Given the description of an element on the screen output the (x, y) to click on. 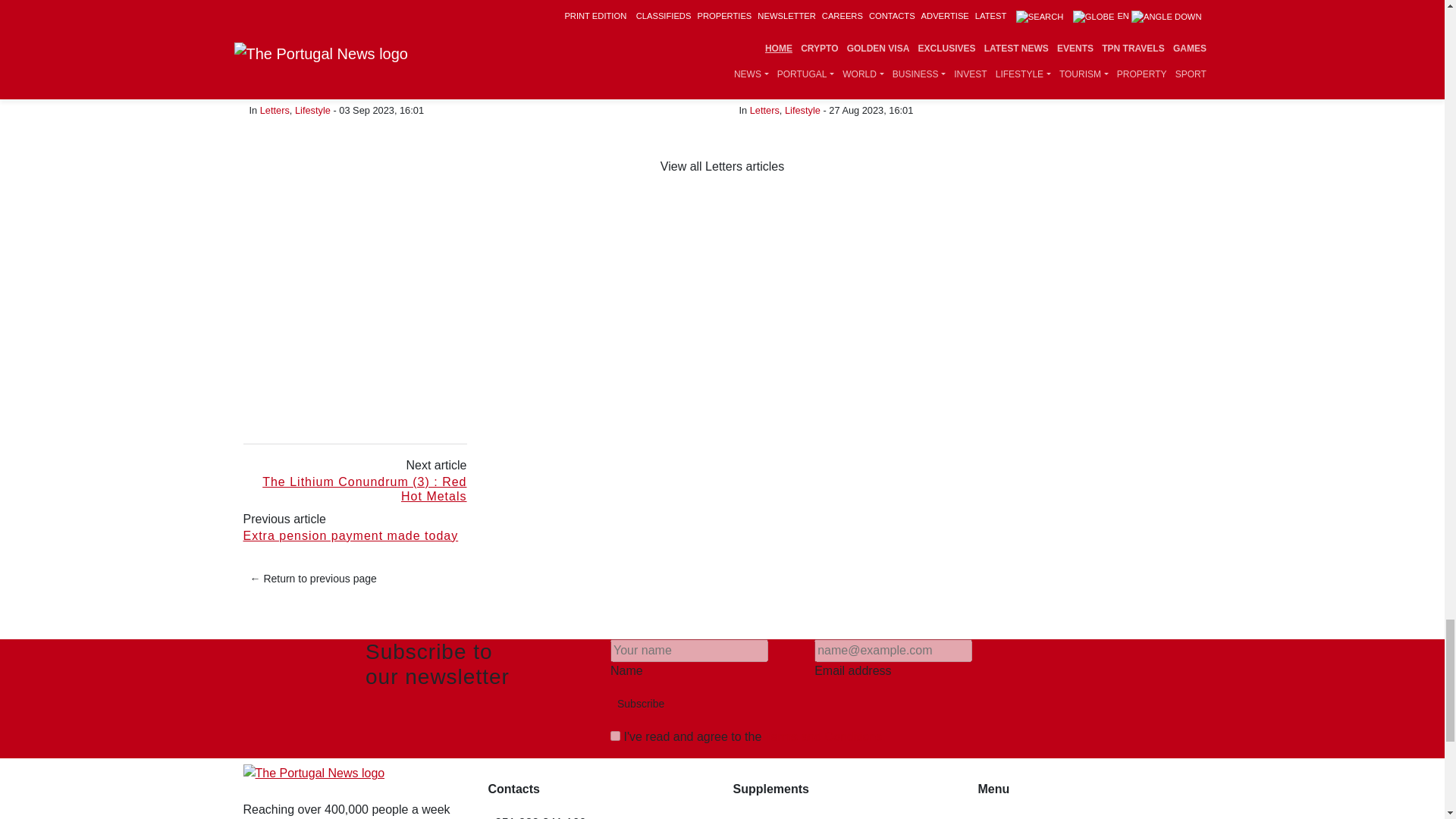
on (615, 736)
